Given the description of an element on the screen output the (x, y) to click on. 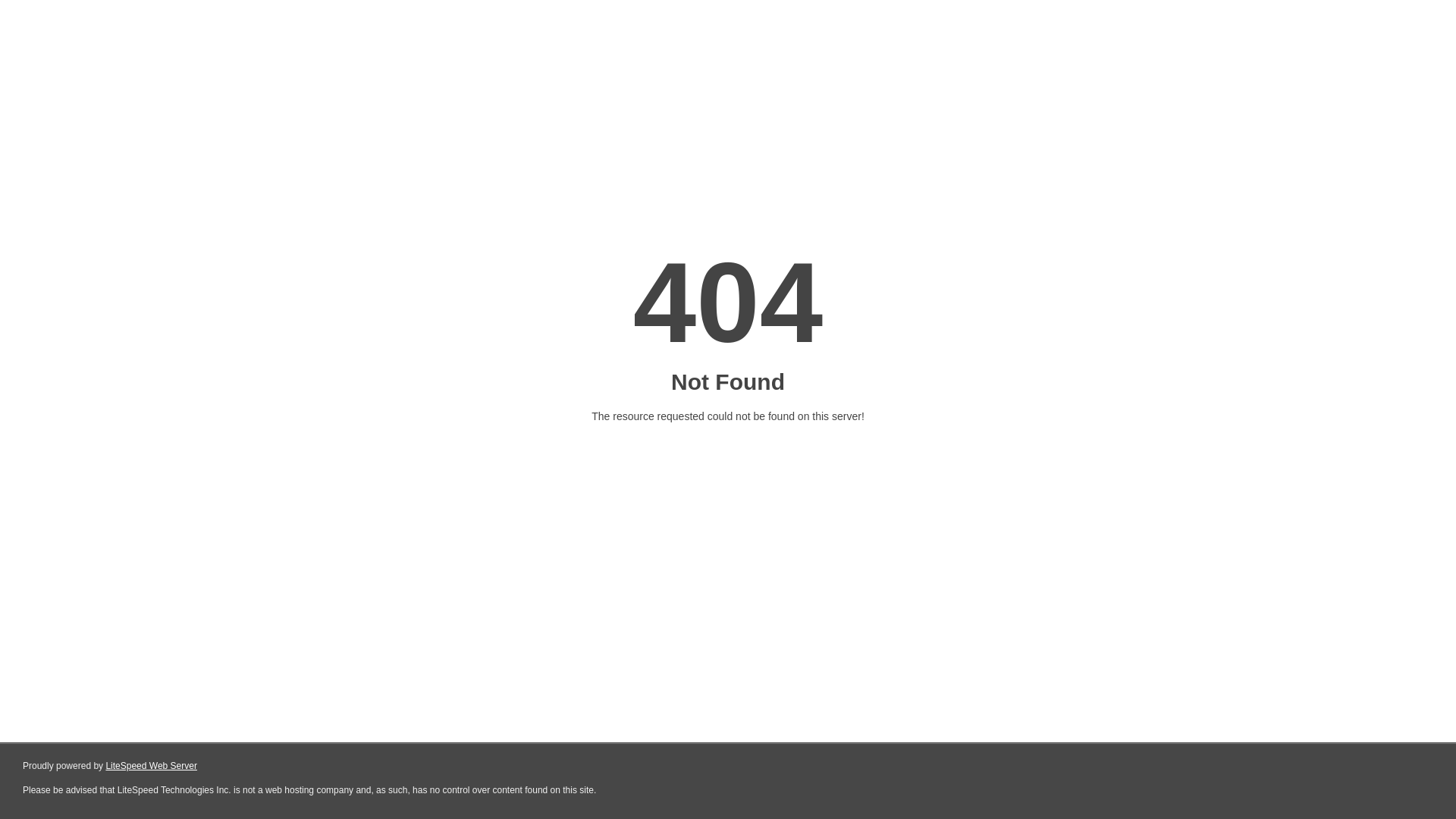
LiteSpeed Web Server Element type: text (151, 765)
